Given the description of an element on the screen output the (x, y) to click on. 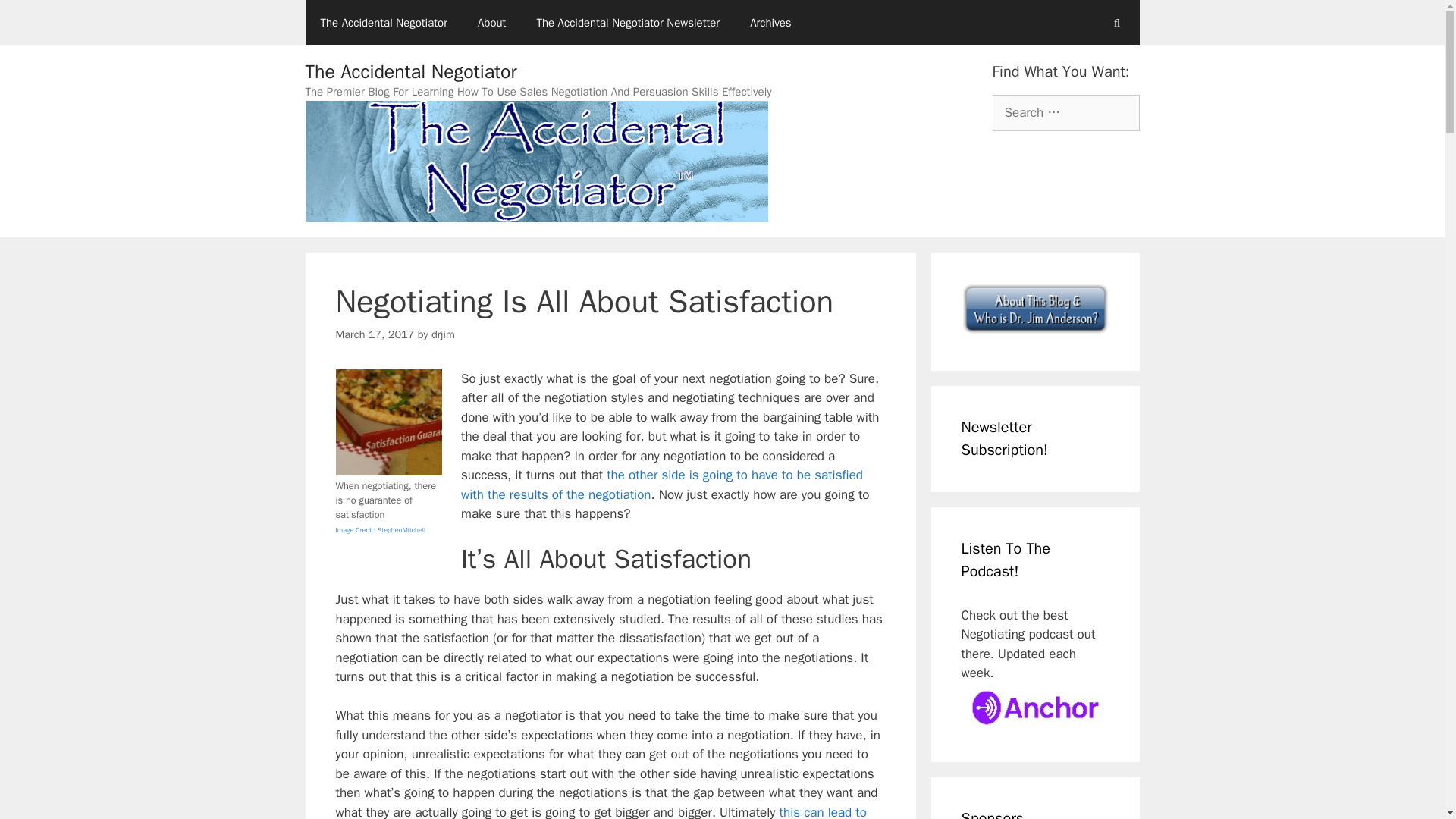
The Accidental Negotiator Newsletter (628, 22)
The Accidental Negotiator (382, 22)
this can lead to deadlock (600, 811)
View all posts by drjim (442, 334)
Search (35, 18)
About (492, 22)
Image Credit: StephenMitchell (379, 529)
3 Secrets For Finding Satisfaction In Your Next Negotiation (662, 484)
Archives (770, 22)
